Given the description of an element on the screen output the (x, y) to click on. 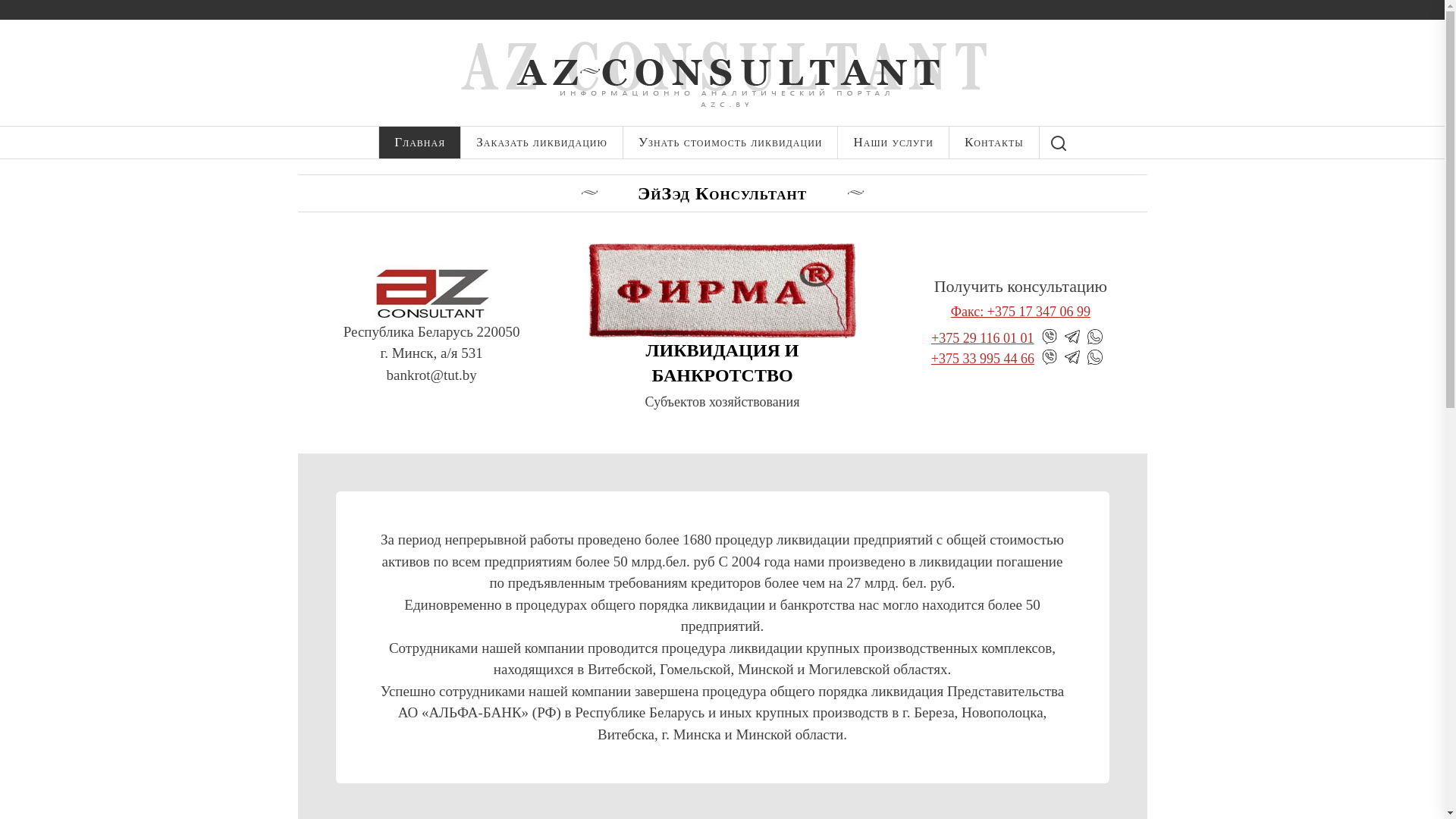
+375 33 995 44 66 Element type: text (982, 359)
Search Element type: text (1058, 142)
+375 29 116 01 01 Element type: text (982, 339)
